Given the description of an element on the screen output the (x, y) to click on. 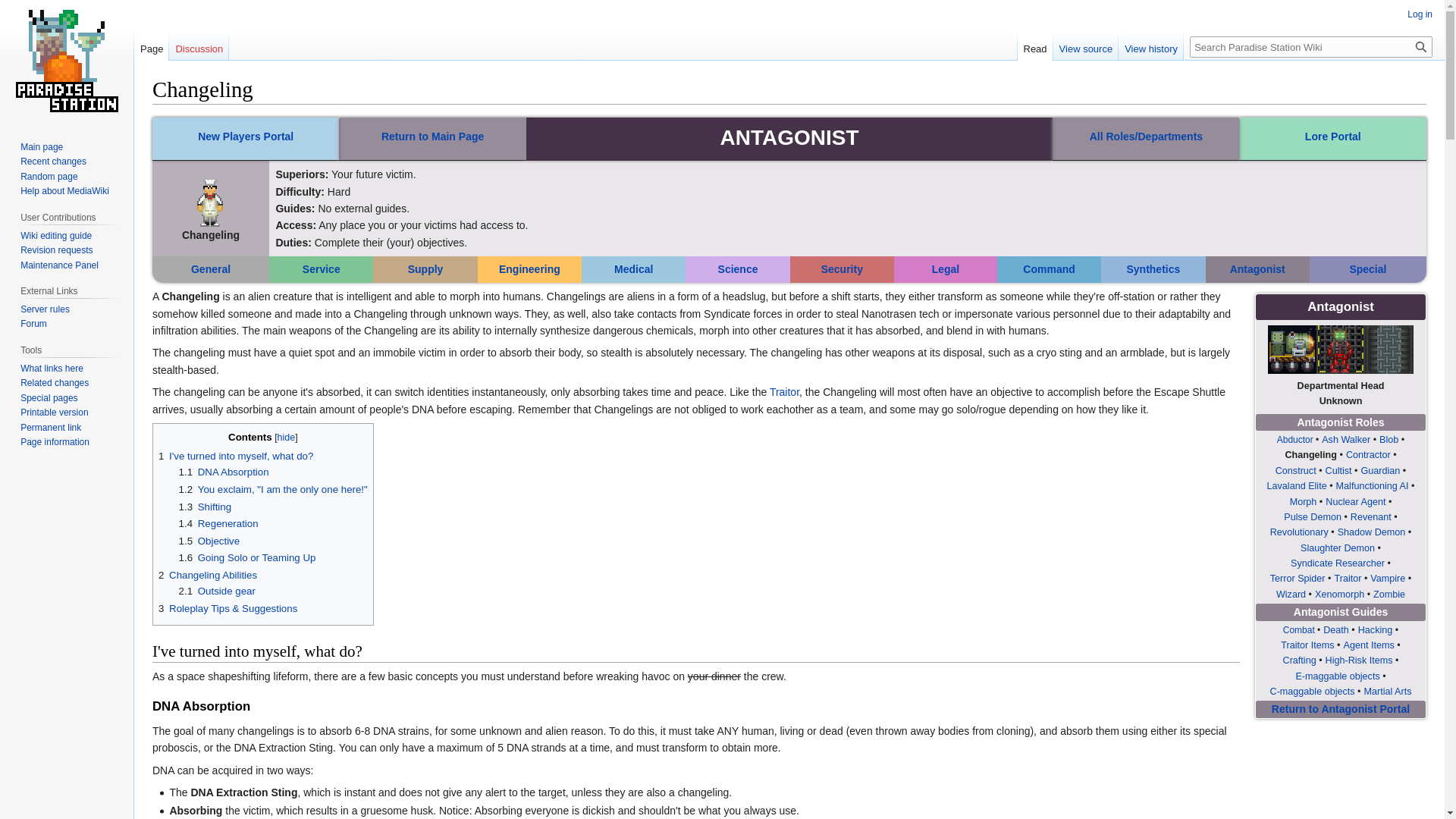
Lore Portal (1332, 136)
Special (1367, 268)
Shadow Demon (1372, 532)
Morph (1303, 501)
Lore Portal (1332, 136)
Engineering (529, 268)
Security Portal (842, 268)
Slaughter Demon (1337, 547)
Service (321, 268)
Cultist (1338, 470)
